Given the description of an element on the screen output the (x, y) to click on. 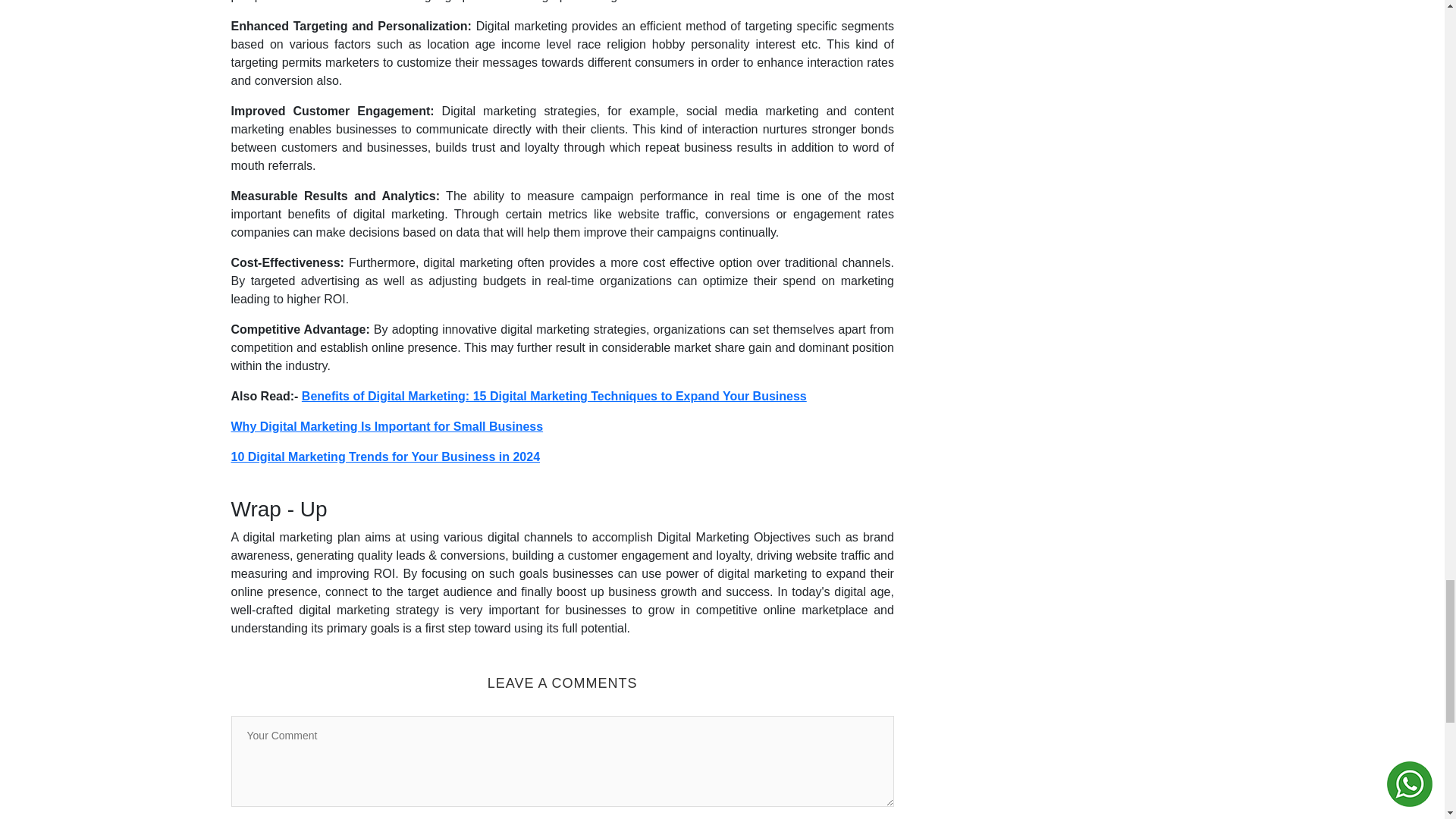
10 Digital Marketing Trends for Your Business in 2024 (385, 456)
Why Digital Marketing Is Important for Small Business (386, 426)
